Given the description of an element on the screen output the (x, y) to click on. 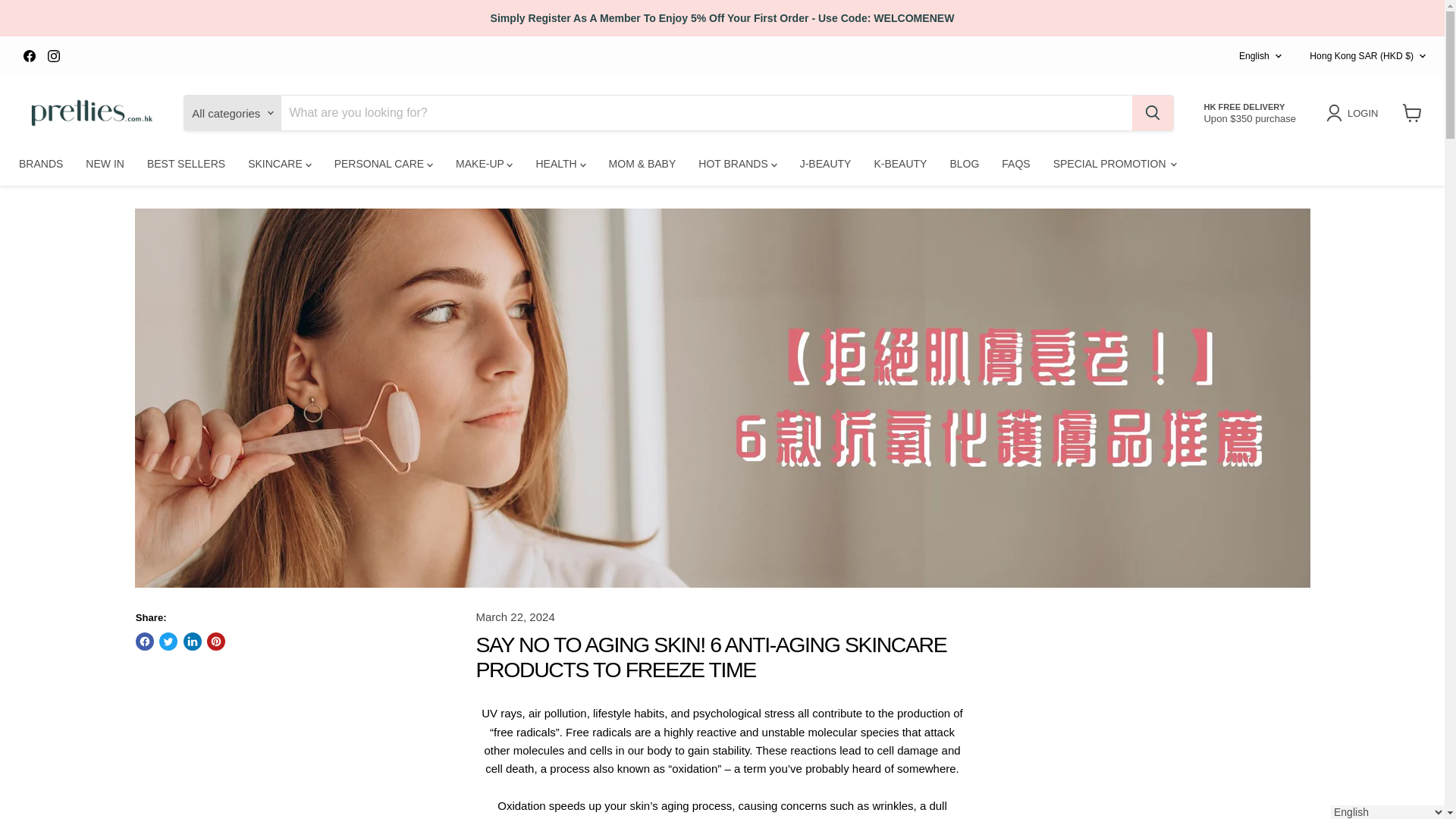
Instagram (53, 55)
Find us on Facebook (29, 55)
Facebook (29, 55)
English (1256, 56)
Find us on Instagram (53, 55)
